Given the description of an element on the screen output the (x, y) to click on. 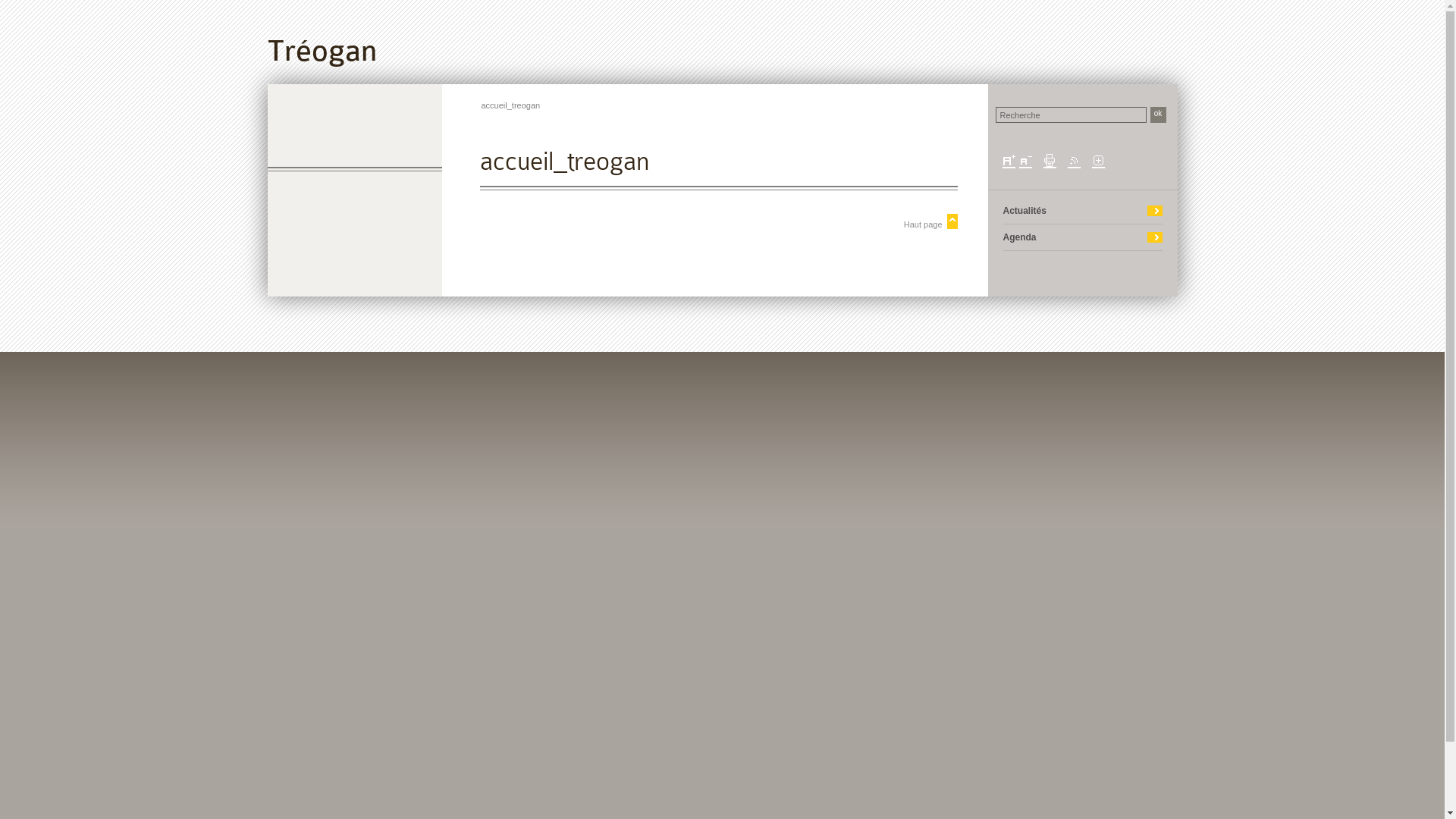
imprimer la page Element type: hover (1049, 159)
Agenda Element type: text (1018, 237)
accueil_treogan Element type: text (510, 105)
Recherche Element type: hover (1069, 114)
S'abonner au flux rss Element type: hover (1073, 159)
Haut page Element type: text (718, 221)
Partager cette information Element type: hover (1098, 159)
Recherche Element type: text (1069, 114)
ok Element type: text (1157, 114)
